Given the description of an element on the screen output the (x, y) to click on. 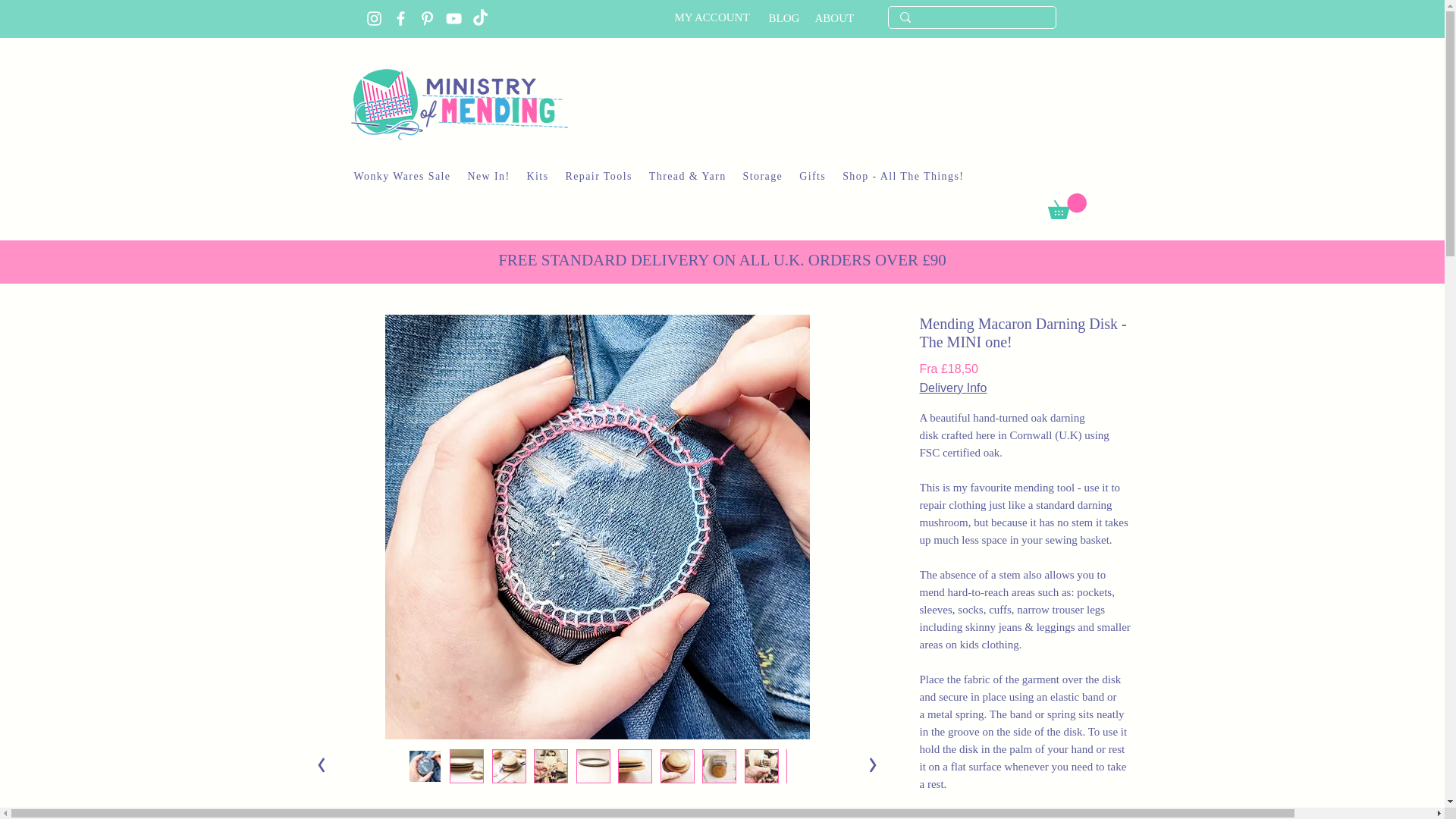
Wonky Wares Sale (402, 176)
Kits (537, 176)
MY ACCOUNT (712, 17)
Gifts (812, 176)
Storage (762, 176)
New In! (488, 176)
BLOG (783, 18)
ABOUT (833, 18)
Repair Tools (598, 176)
